Given the description of an element on the screen output the (x, y) to click on. 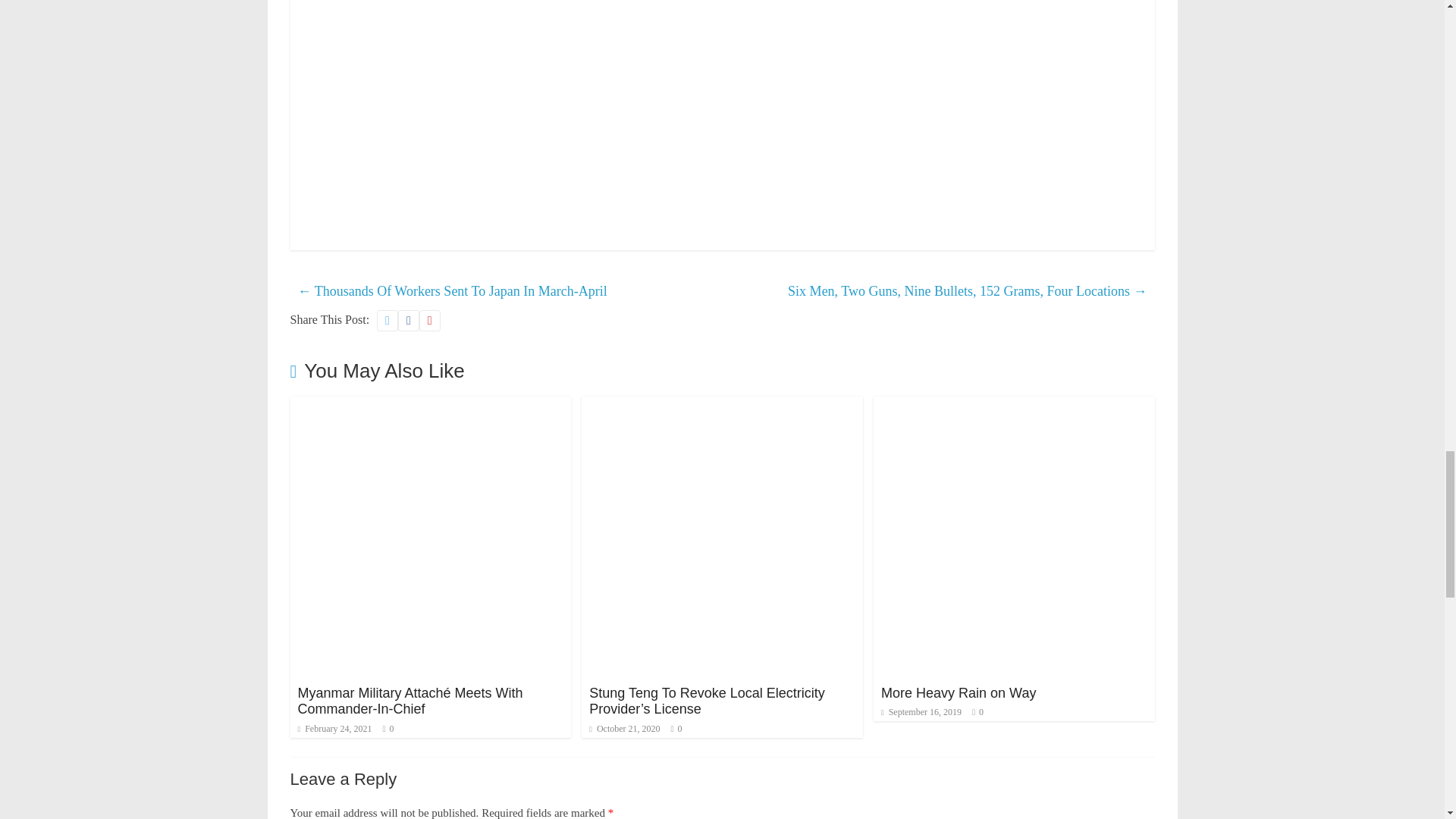
February 24, 2021 (334, 728)
3:09 pm (334, 728)
9:54 am (624, 728)
